Given the description of an element on the screen output the (x, y) to click on. 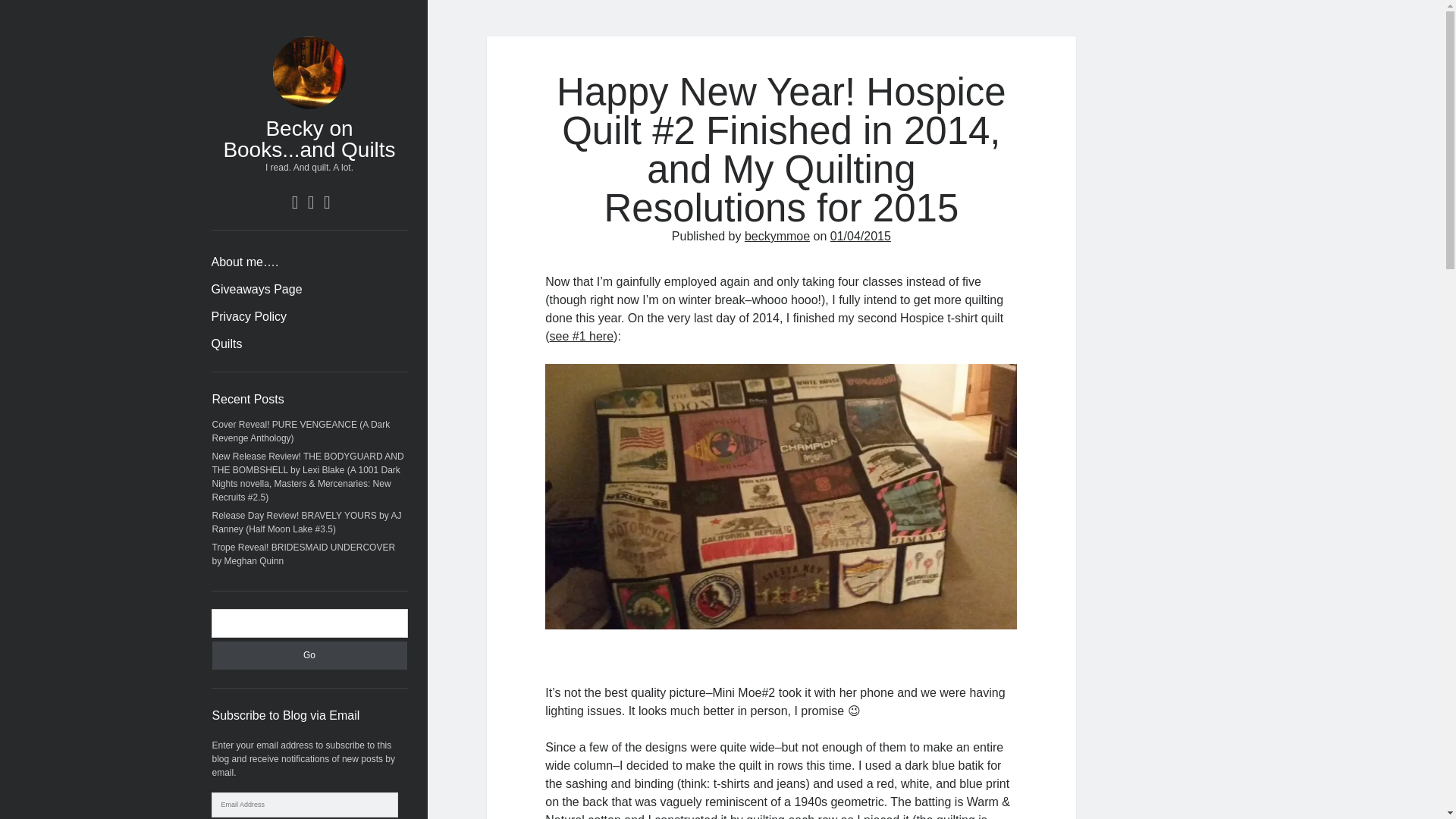
Go (309, 655)
Privacy Policy (248, 316)
Giveaways Page (256, 289)
Go (309, 655)
Quilts (226, 343)
Go (309, 655)
Search for: (309, 623)
Trope Reveal! BRIDESMAID UNDERCOVER by Meghan Quinn (304, 554)
Becky on Books...and Quilts (308, 139)
